Given the description of an element on the screen output the (x, y) to click on. 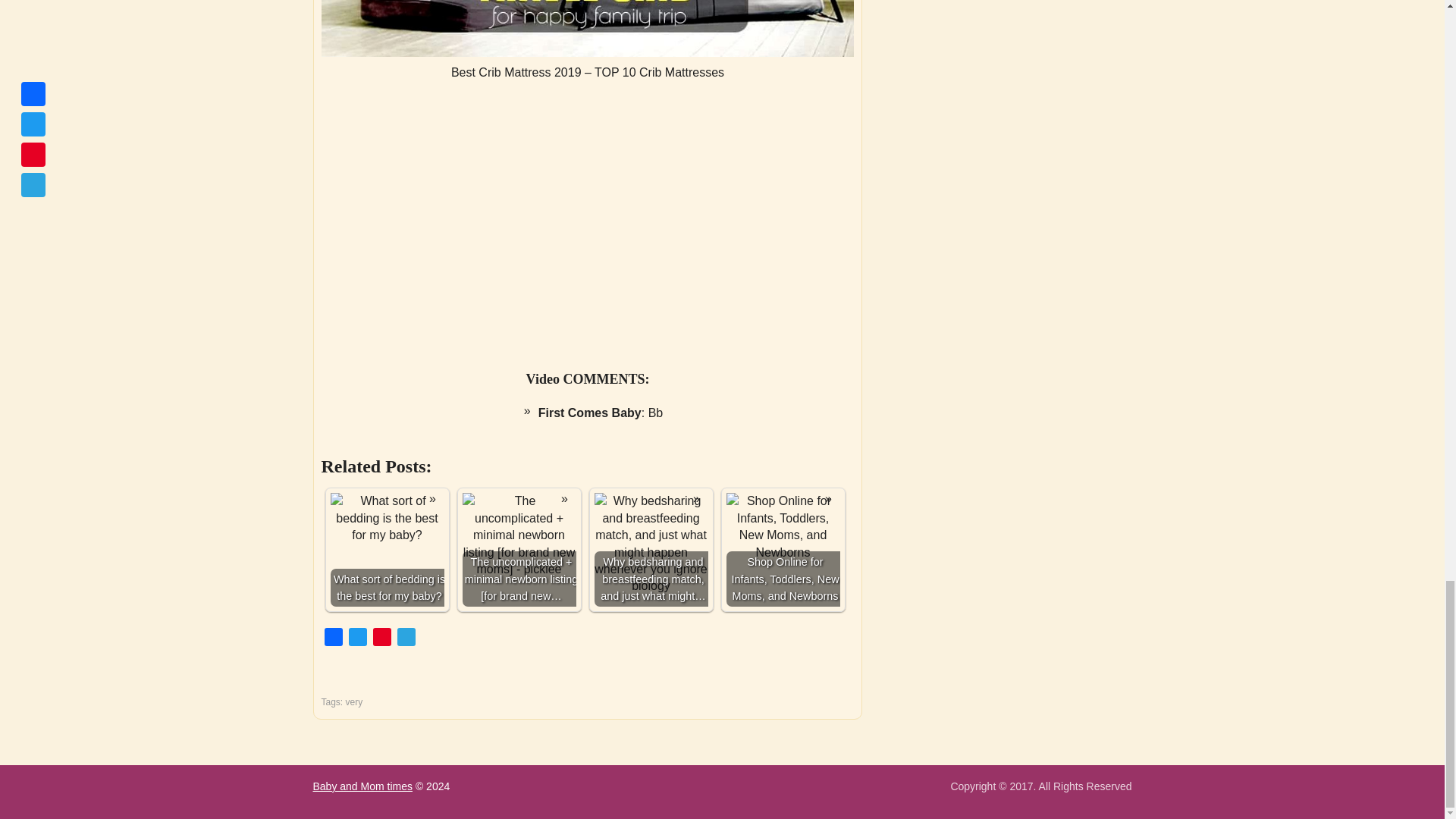
Telegram (406, 639)
Shop Online for Infants, Toddlers, New Moms, and Newborns (783, 527)
Twitter (357, 639)
very (354, 701)
Twitter (357, 639)
Pinterest (381, 639)
Facebook (333, 639)
Pinterest (381, 639)
What sort of bedding is the best for my baby? (387, 518)
Telegram (406, 639)
Facebook (333, 639)
What sort of bedding is the best for my baby? (387, 549)
Shop Online for Infants, Toddlers, New Moms, and Newborns (783, 549)
